Given the description of an element on the screen output the (x, y) to click on. 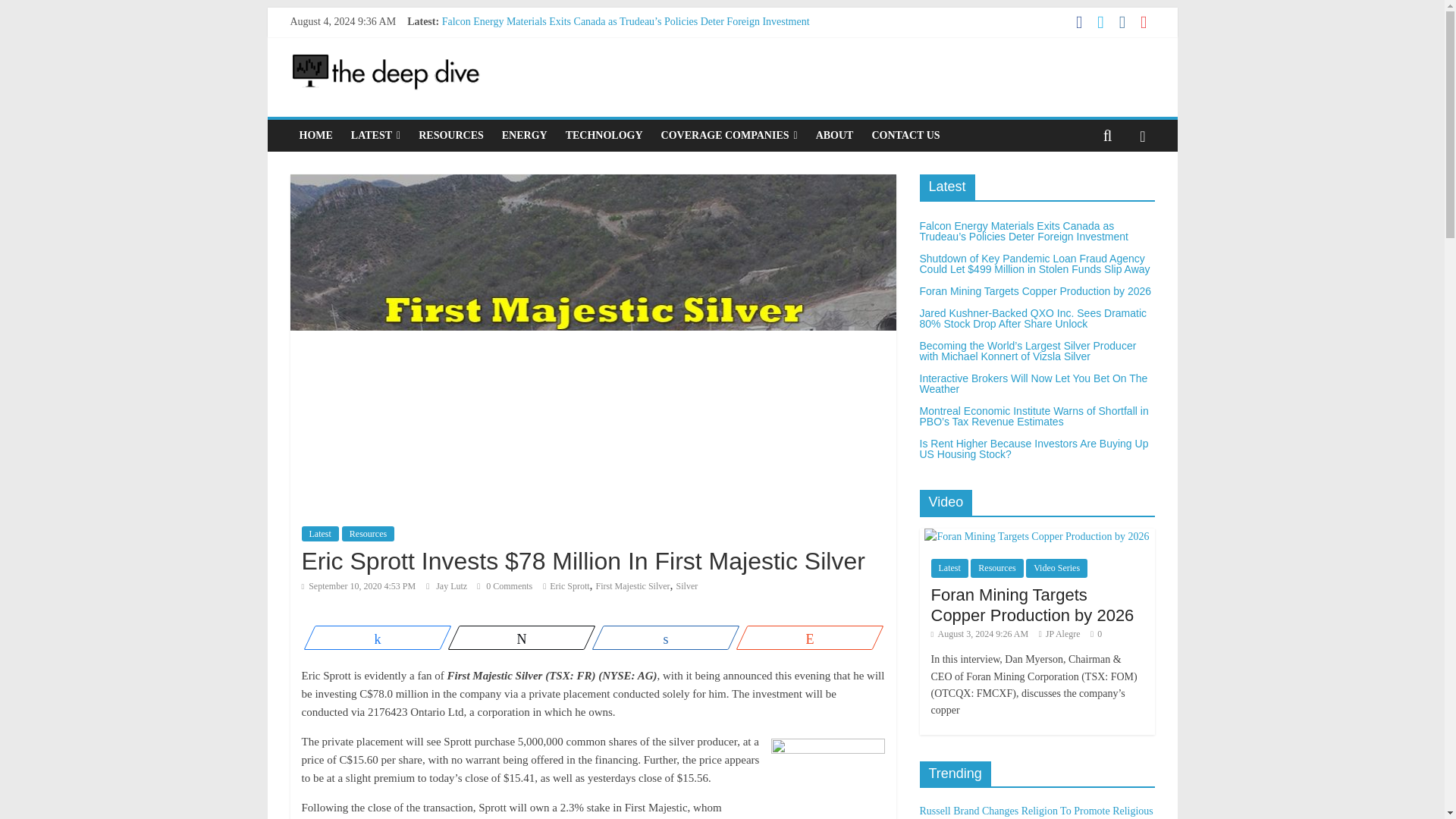
Jay Lutz (451, 585)
HOME (314, 135)
Foran Mining Targets Copper Production by 2026 (547, 55)
COVERAGE COMPANIES (729, 135)
LATEST (375, 135)
ENERGY (524, 135)
Foran Mining Targets Copper Production by 2026 (547, 55)
TECHNOLOGY (604, 135)
4:53 pm (358, 585)
RESOURCES (451, 135)
